Given the description of an element on the screen output the (x, y) to click on. 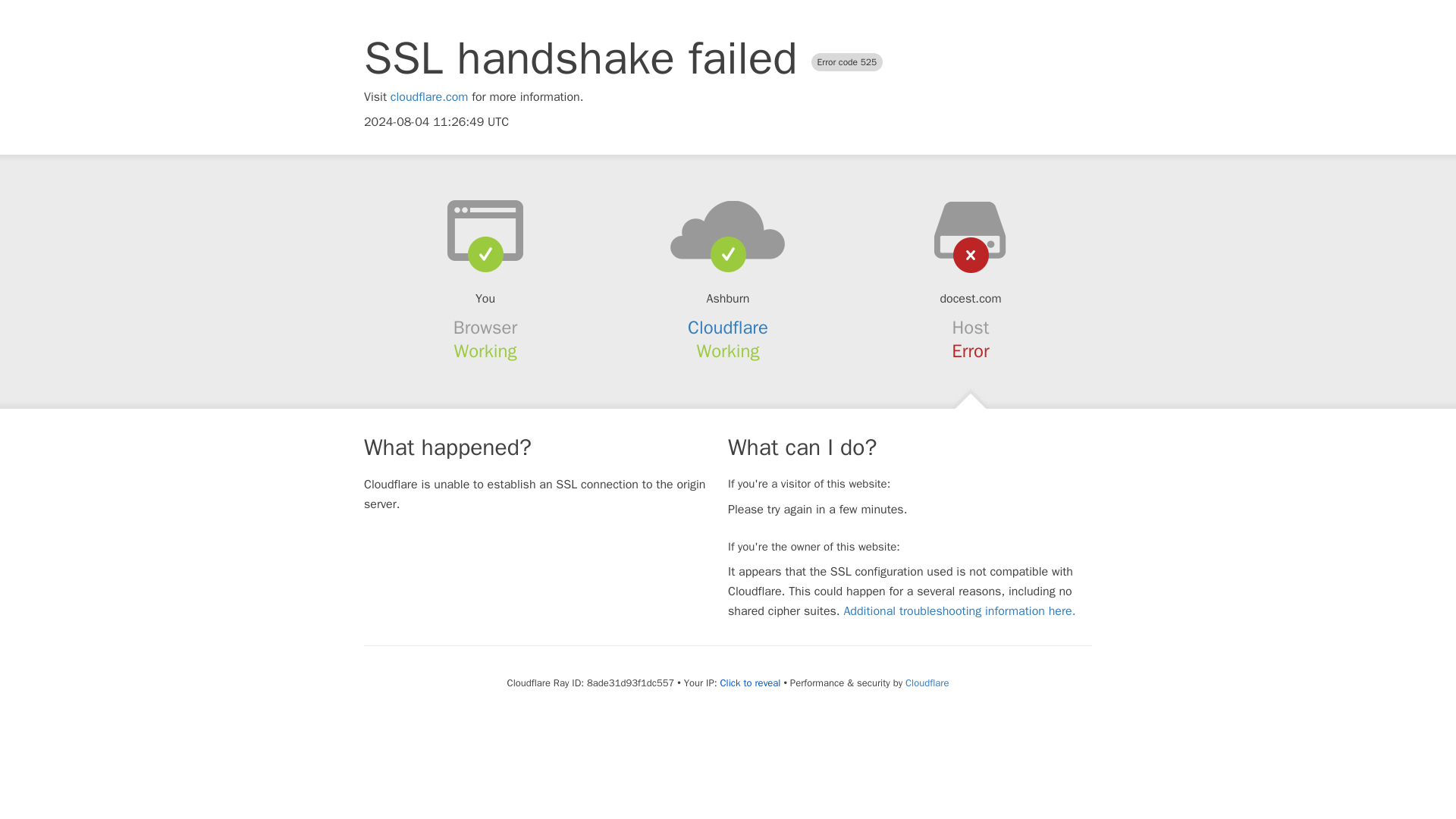
Additional troubleshooting information here. (959, 611)
cloudflare.com (429, 96)
Click to reveal (750, 683)
Cloudflare (927, 682)
Cloudflare (727, 327)
